Given the description of an element on the screen output the (x, y) to click on. 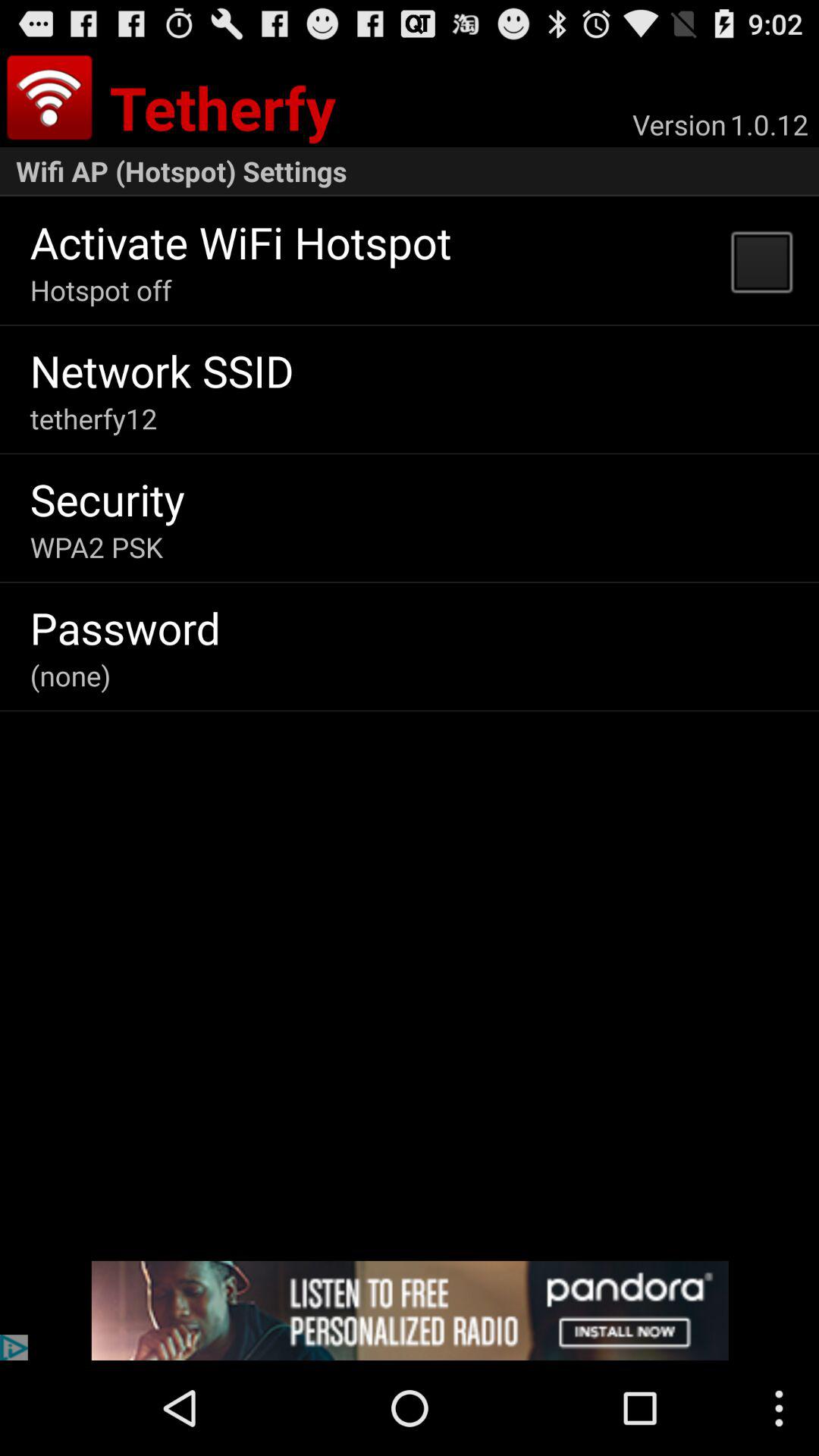
install pandora (409, 1310)
